Given the description of an element on the screen output the (x, y) to click on. 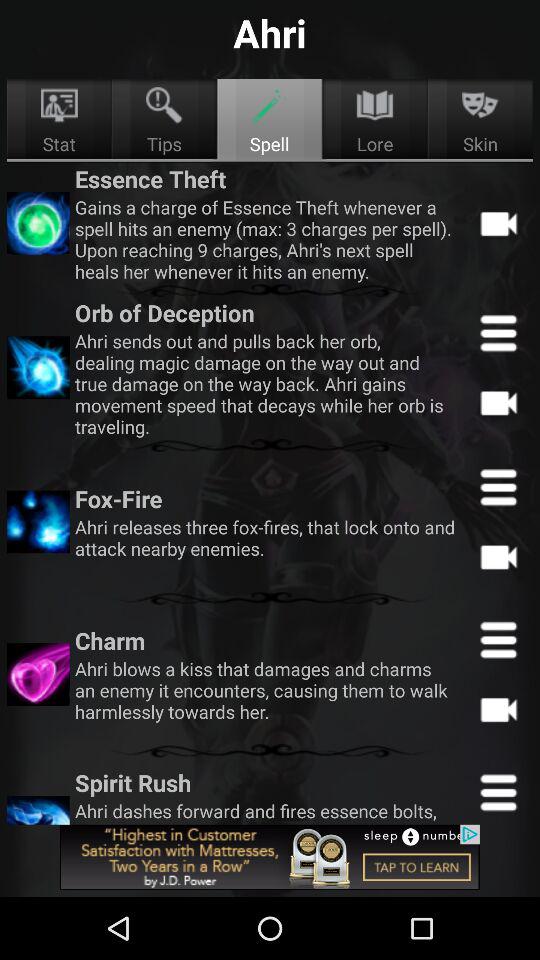
go to the advertised website (270, 857)
